Given the description of an element on the screen output the (x, y) to click on. 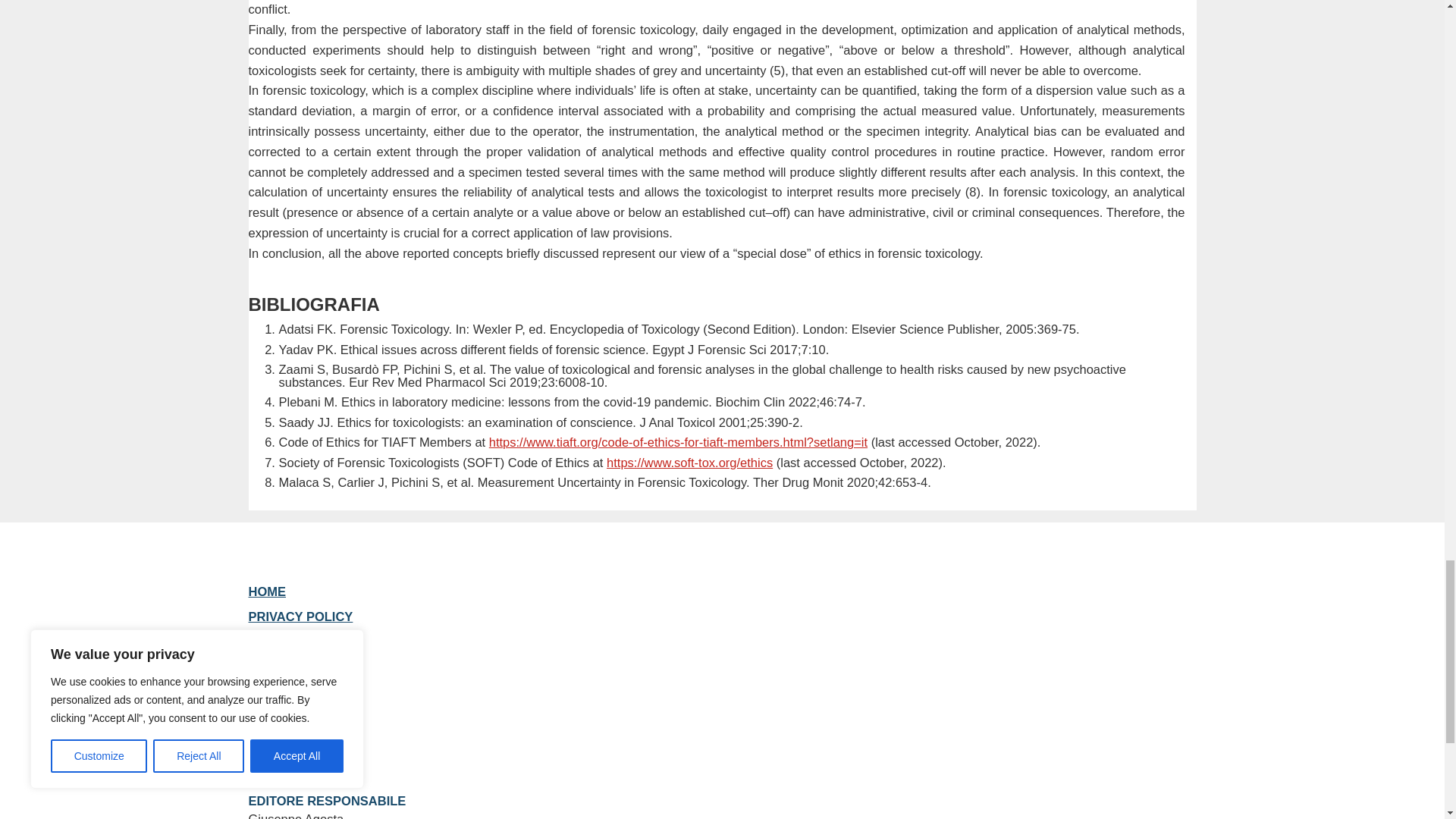
PRIVACY POLICY (300, 616)
5x1000 Docemus (299, 641)
HOME (267, 591)
